Given the description of an element on the screen output the (x, y) to click on. 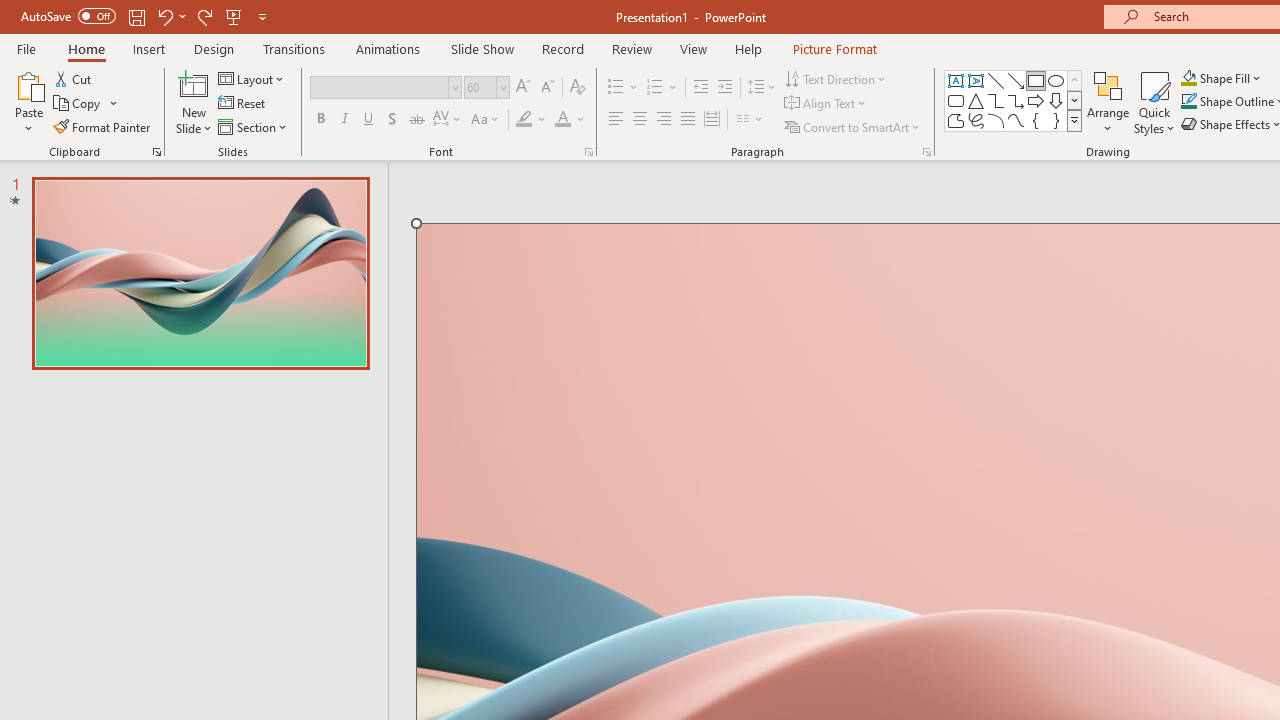
Picture Format (834, 48)
